Given the description of an element on the screen output the (x, y) to click on. 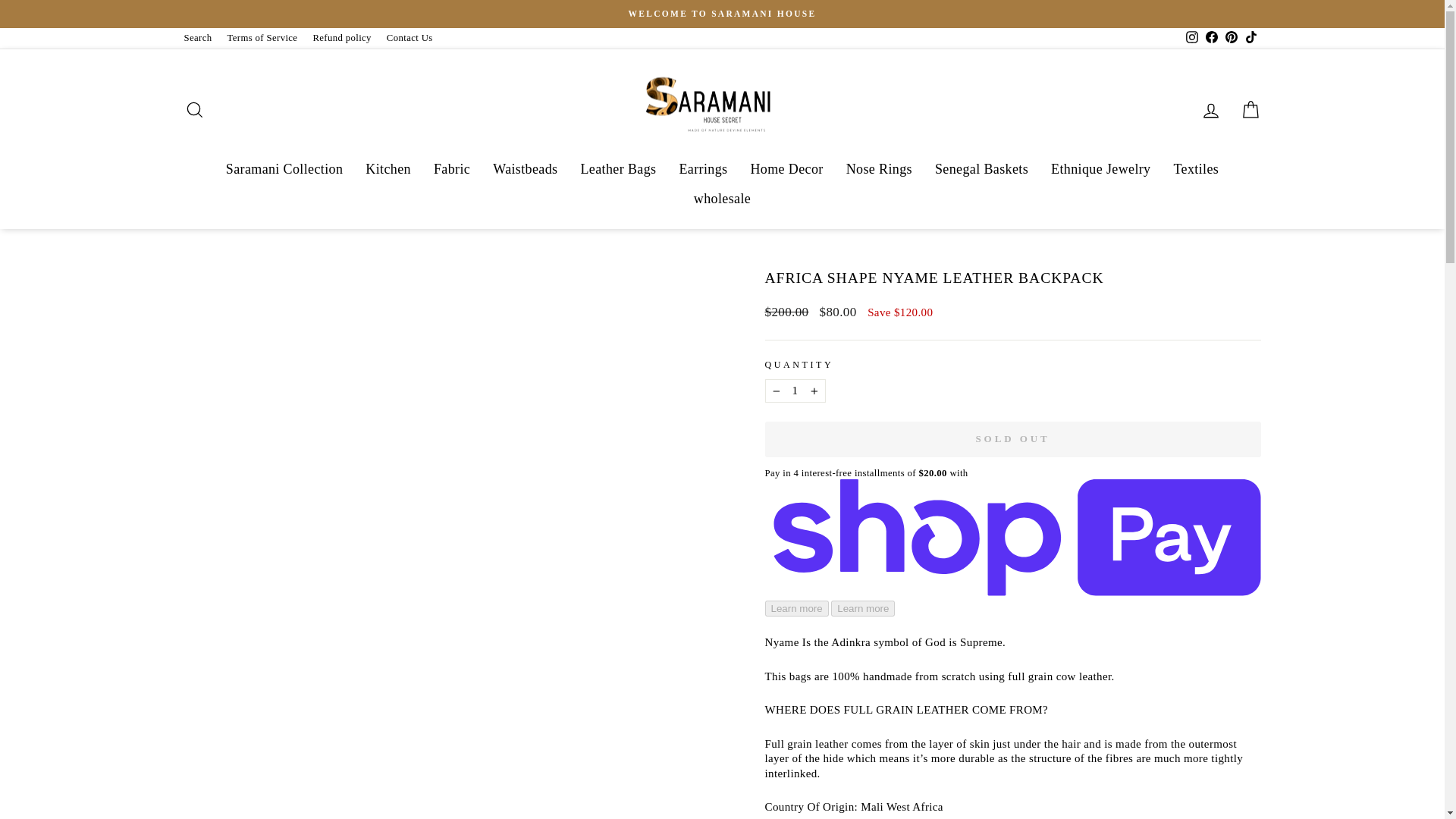
1 (794, 391)
SARAMANI HOUSE  on Instagram (1190, 37)
SARAMANI HOUSE  on Facebook (1211, 37)
SARAMANI HOUSE  on TikTok (1250, 37)
SARAMANI HOUSE  on Pinterest (1230, 37)
Search (197, 37)
